Given the description of an element on the screen output the (x, y) to click on. 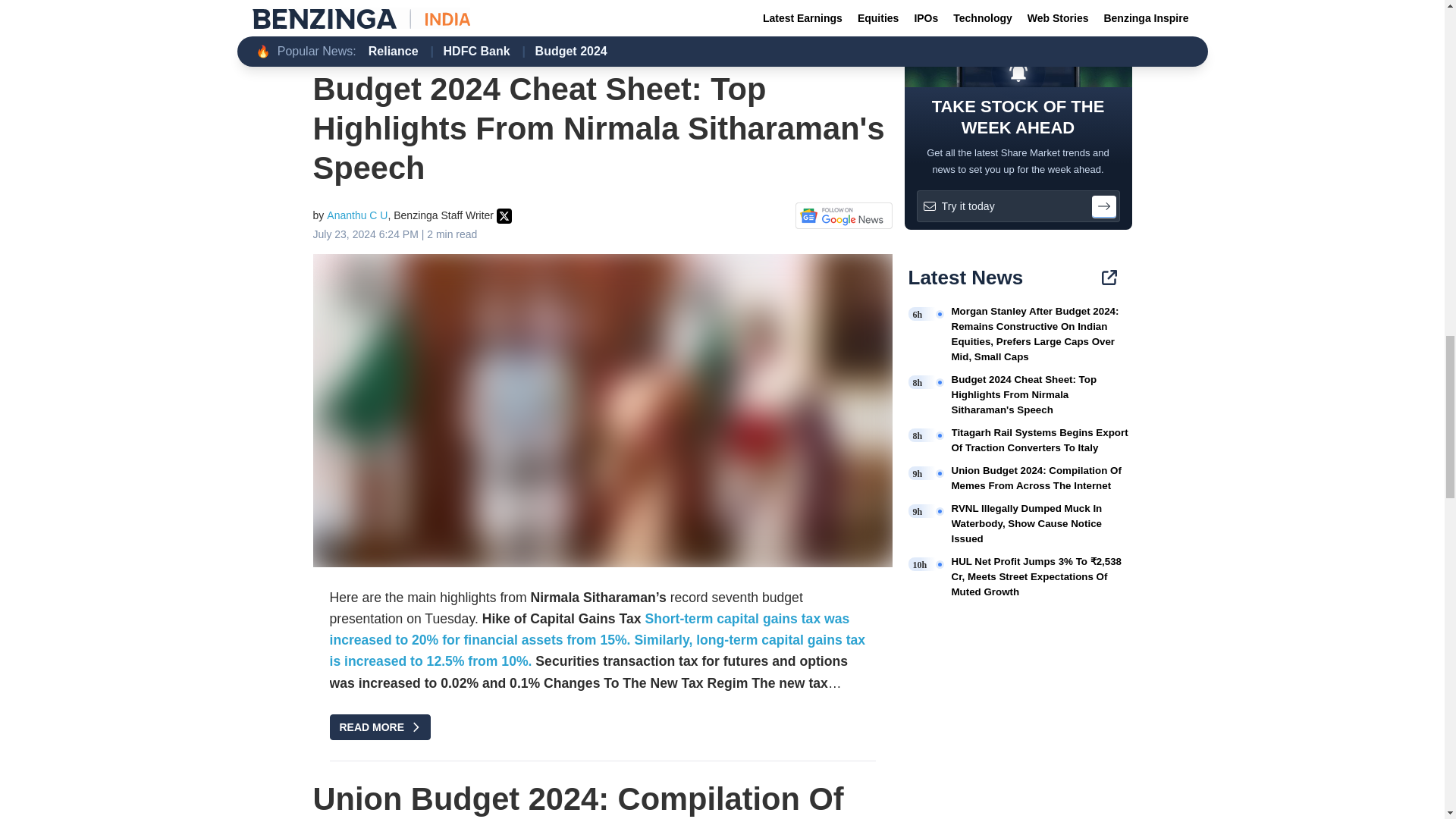
Ananthu C U (356, 215)
Tech (396, 24)
Benzinga Inspire (456, 24)
